Given the description of an element on the screen output the (x, y) to click on. 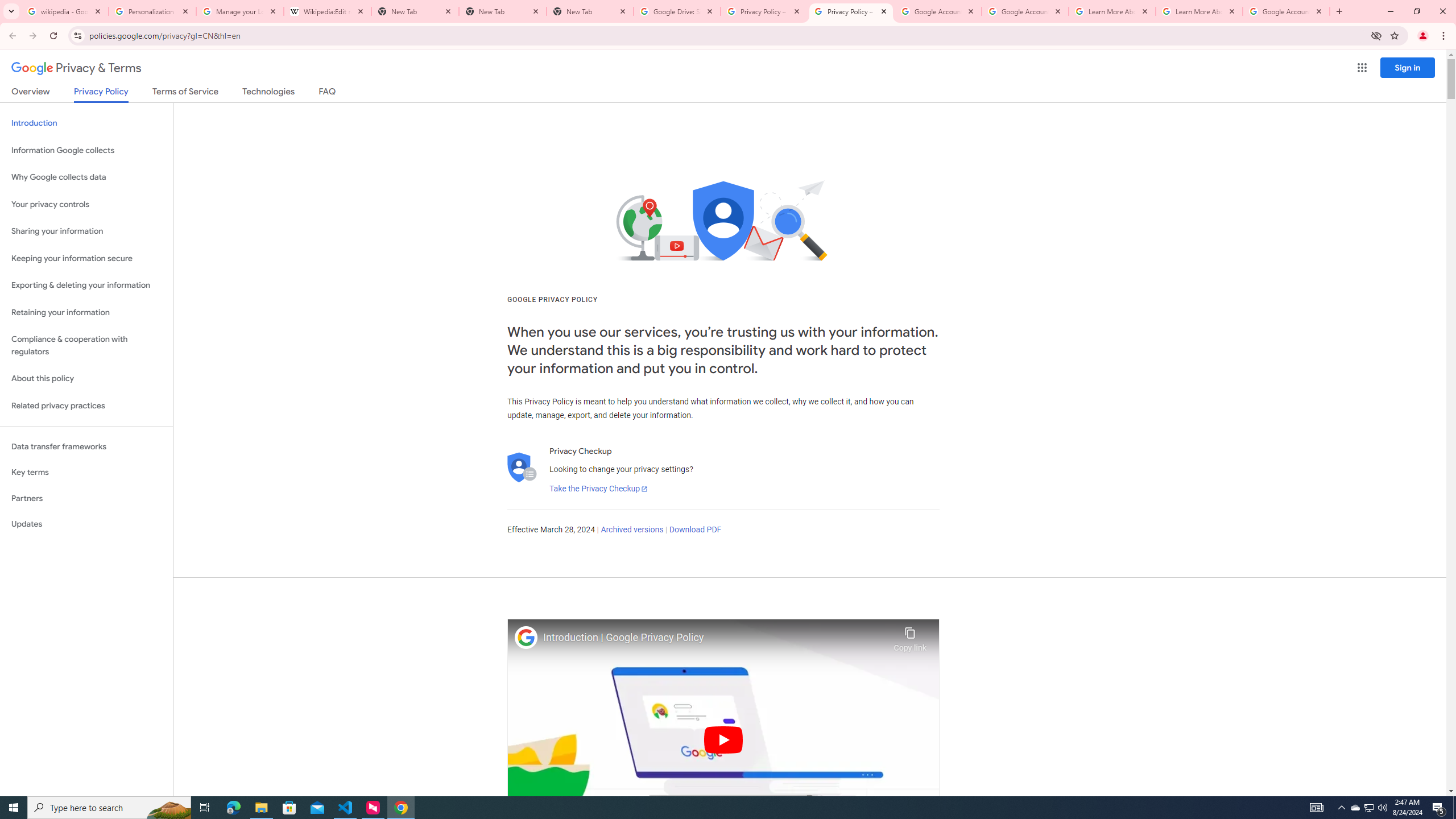
New Tab (590, 11)
Copy link (909, 636)
Manage your Location History - Google Search Help (239, 11)
Google Drive: Sign-in (676, 11)
